Given the description of an element on the screen output the (x, y) to click on. 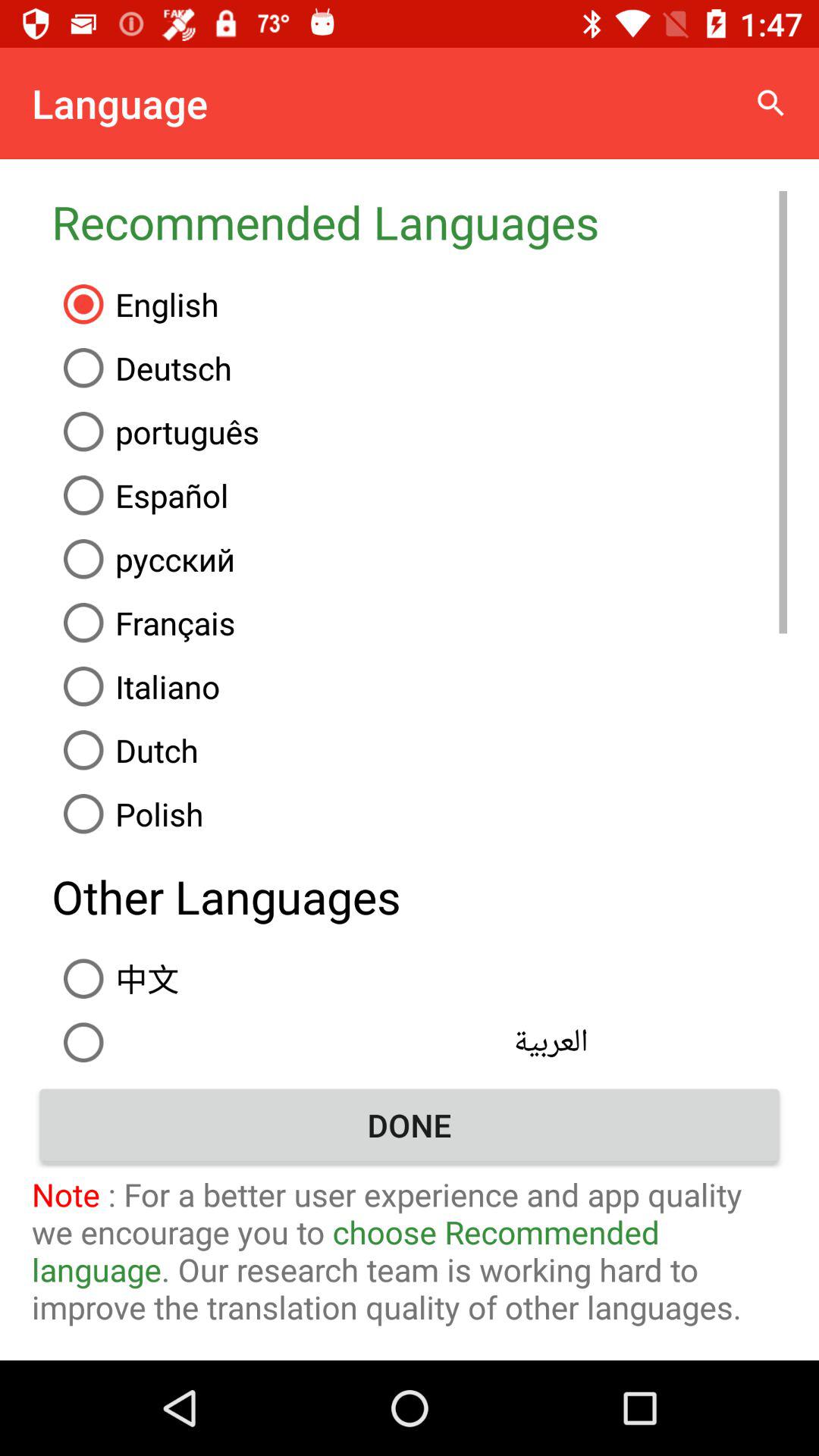
choose the item above the polish item (419, 750)
